Given the description of an element on the screen output the (x, y) to click on. 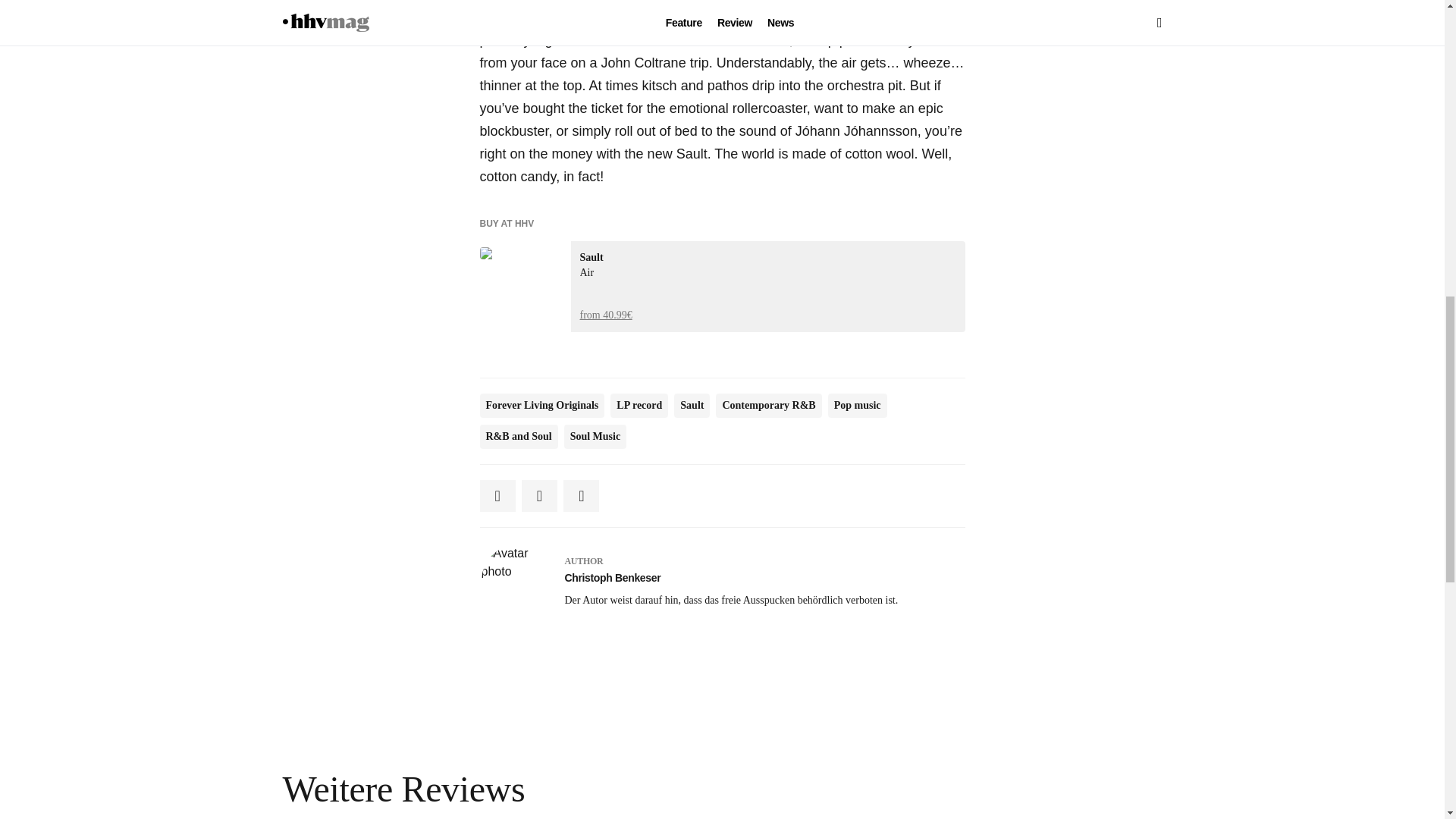
Pop music (857, 405)
Sault (692, 405)
Forever Living Originals (541, 405)
LP record (639, 405)
Soul Music (595, 436)
